Given the description of an element on the screen output the (x, y) to click on. 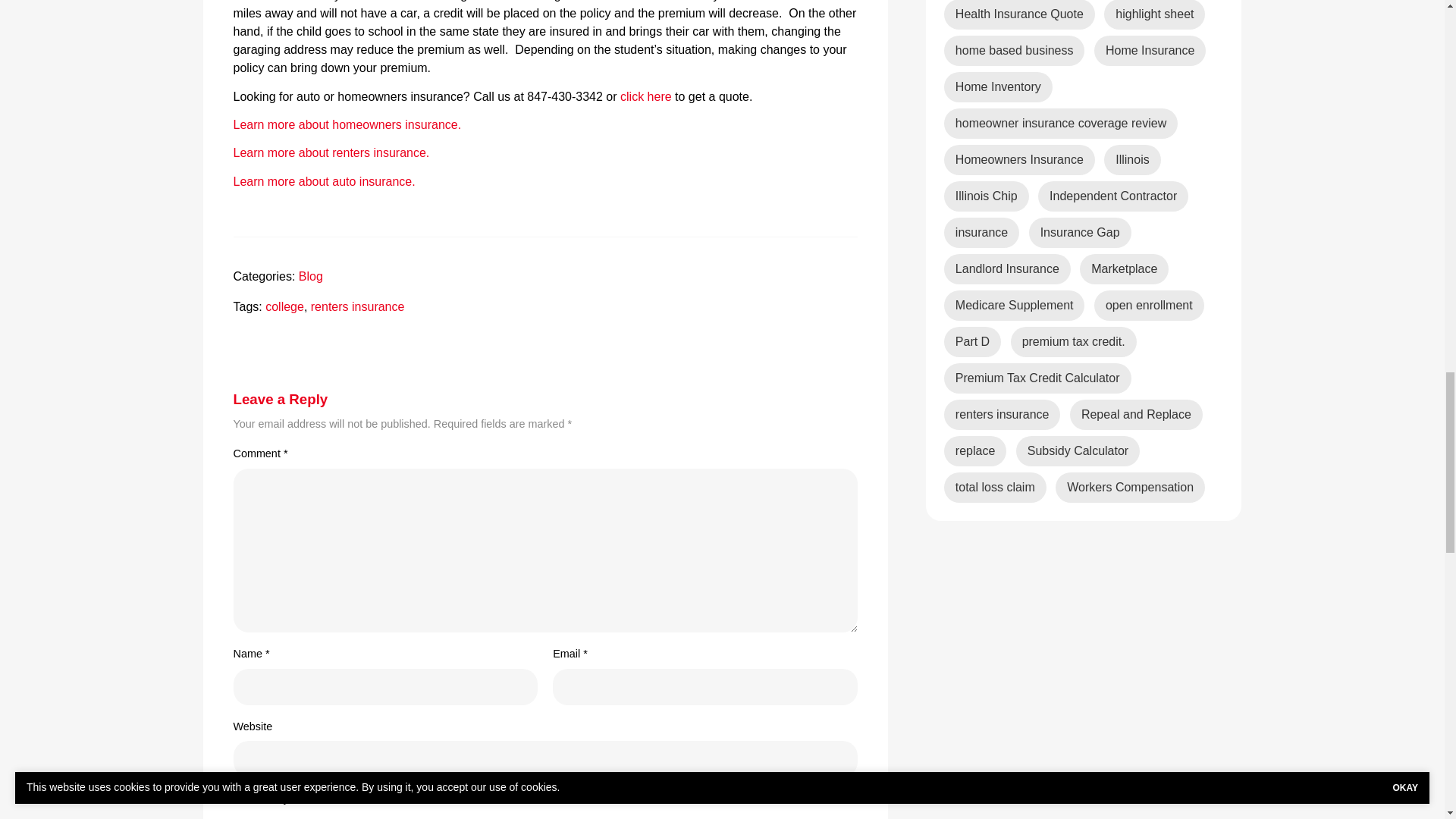
yes (237, 797)
